Given the description of an element on the screen output the (x, y) to click on. 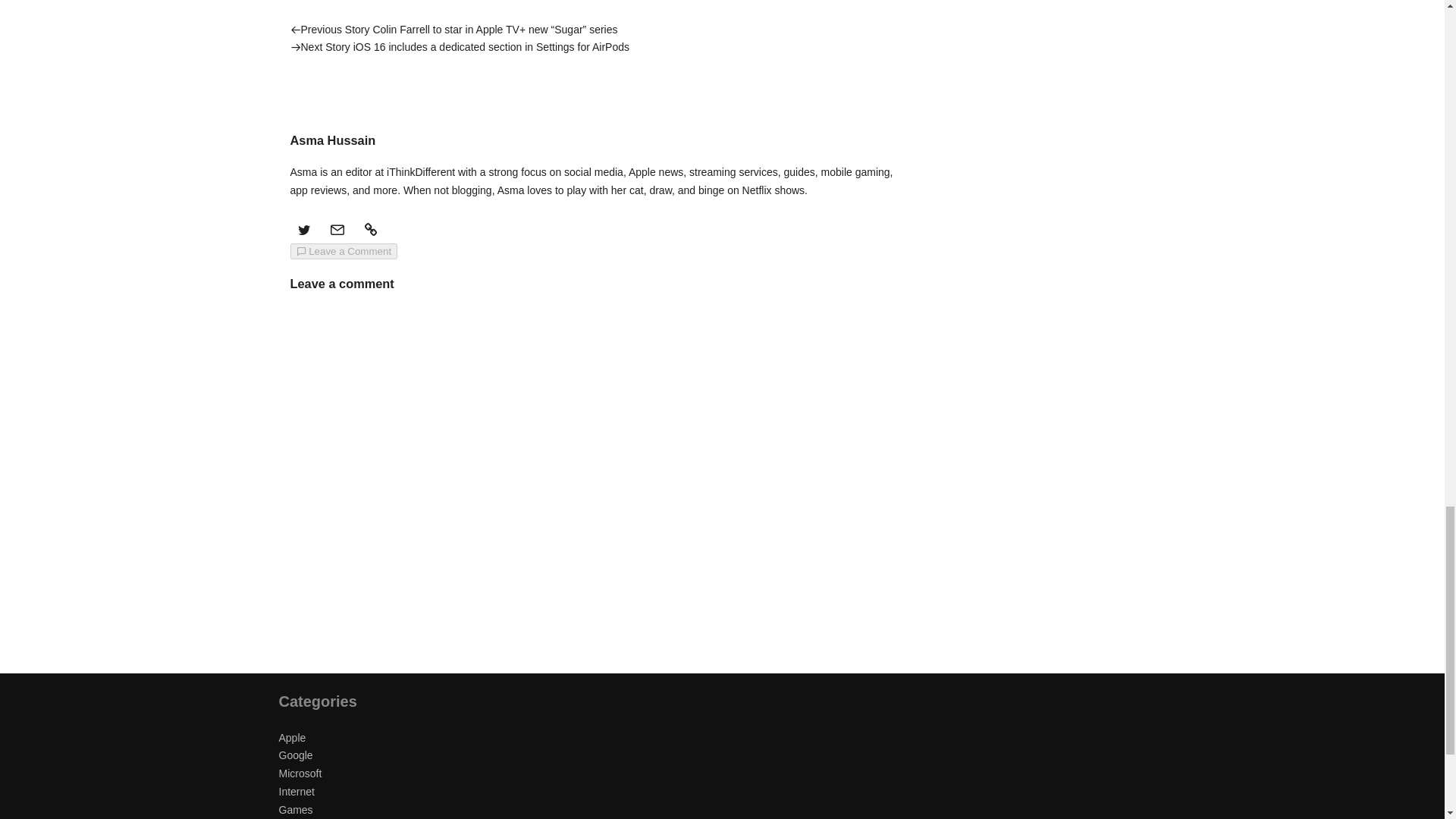
Asma Hussain (332, 140)
Follow me on Twitter (303, 228)
Asma Hussain (319, 86)
